Given the description of an element on the screen output the (x, y) to click on. 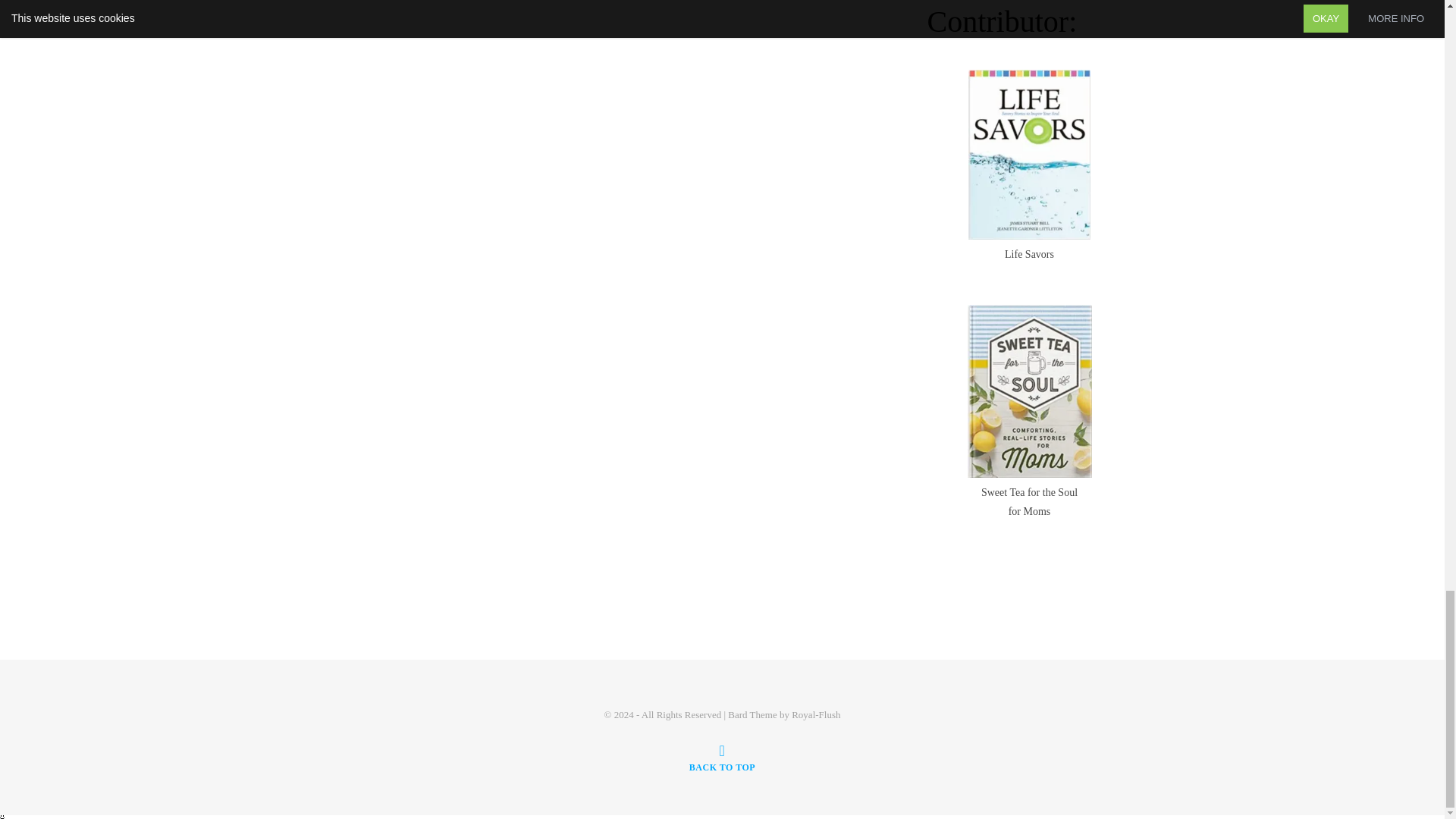
BACK TO TOP (722, 758)
